Given the description of an element on the screen output the (x, y) to click on. 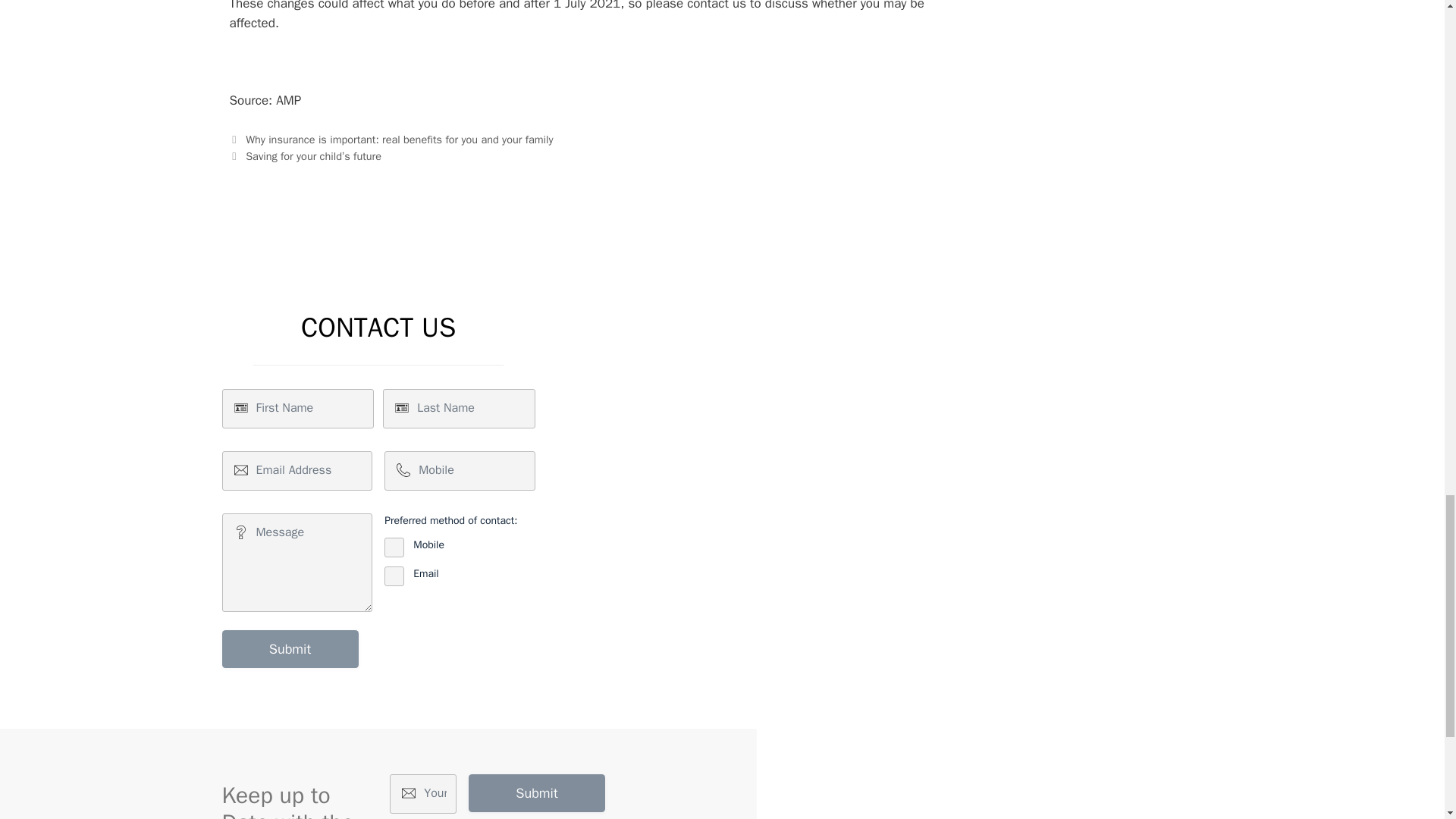
Submit (289, 648)
Submit (289, 648)
Email (394, 576)
Submit (536, 792)
Submit (536, 792)
Mobile (394, 547)
